Given the description of an element on the screen output the (x, y) to click on. 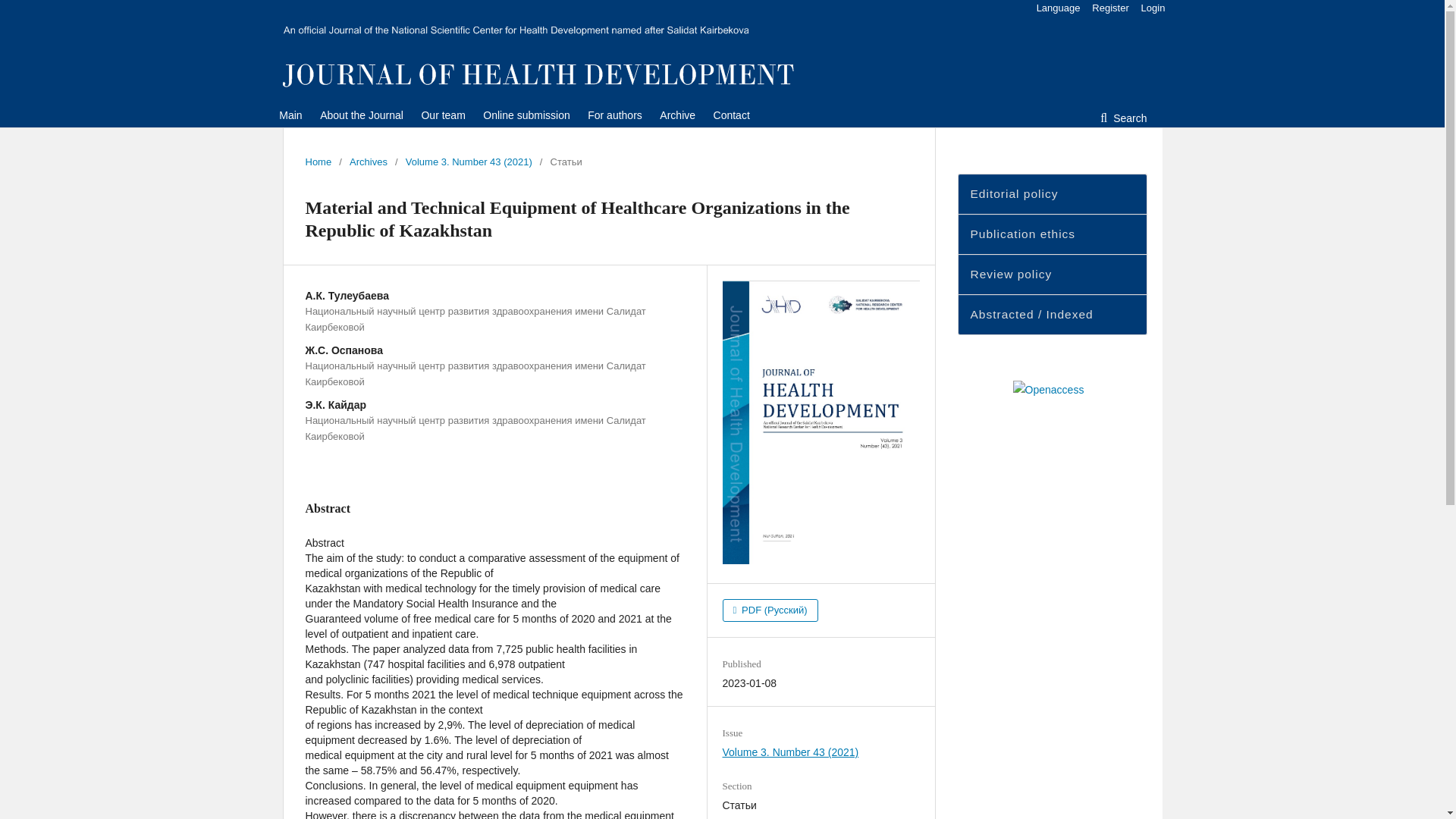
Search (1122, 118)
For authors (615, 114)
About the Journal (361, 114)
Home (317, 161)
Online submission (526, 114)
Archive (677, 114)
Register (1109, 9)
Our team (442, 114)
Archives (368, 161)
Login (1150, 9)
